Given the description of an element on the screen output the (x, y) to click on. 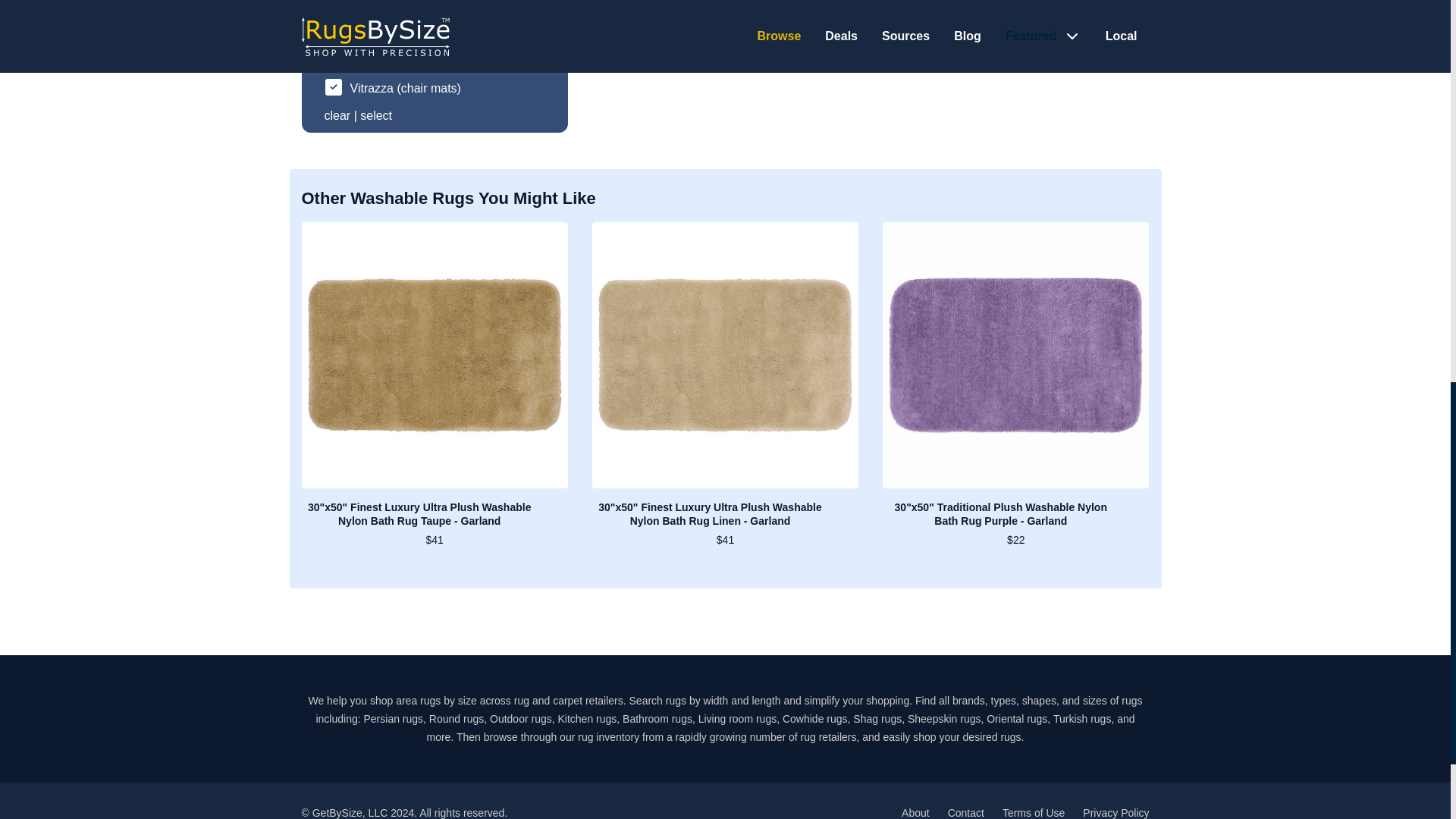
Privacy Policy (1115, 812)
Terms of Use (1033, 812)
Contact (965, 812)
About (915, 812)
clear (337, 115)
select (375, 115)
